Given the description of an element on the screen output the (x, y) to click on. 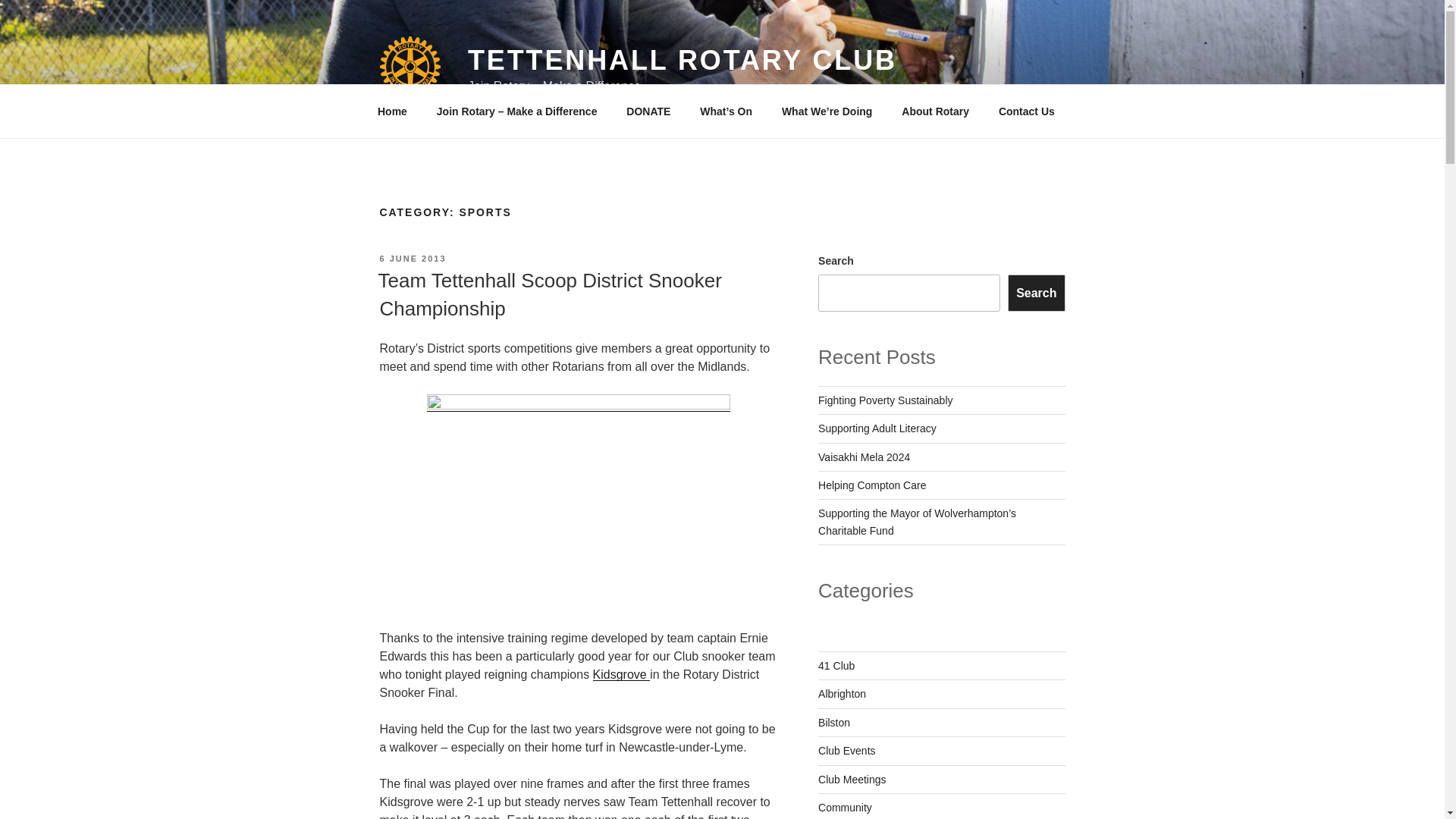
Team Tettenhall Scoop District Snooker Championship (548, 294)
6 JUNE 2013 (411, 257)
Vaisakhi Mela 2024 (864, 457)
Home (392, 110)
About Rotary (935, 110)
Search (1035, 292)
Supporting Adult Literacy (877, 428)
Contact Us (1026, 110)
Fighting Poverty Sustainably (885, 399)
DONATE (648, 110)
